Given the description of an element on the screen output the (x, y) to click on. 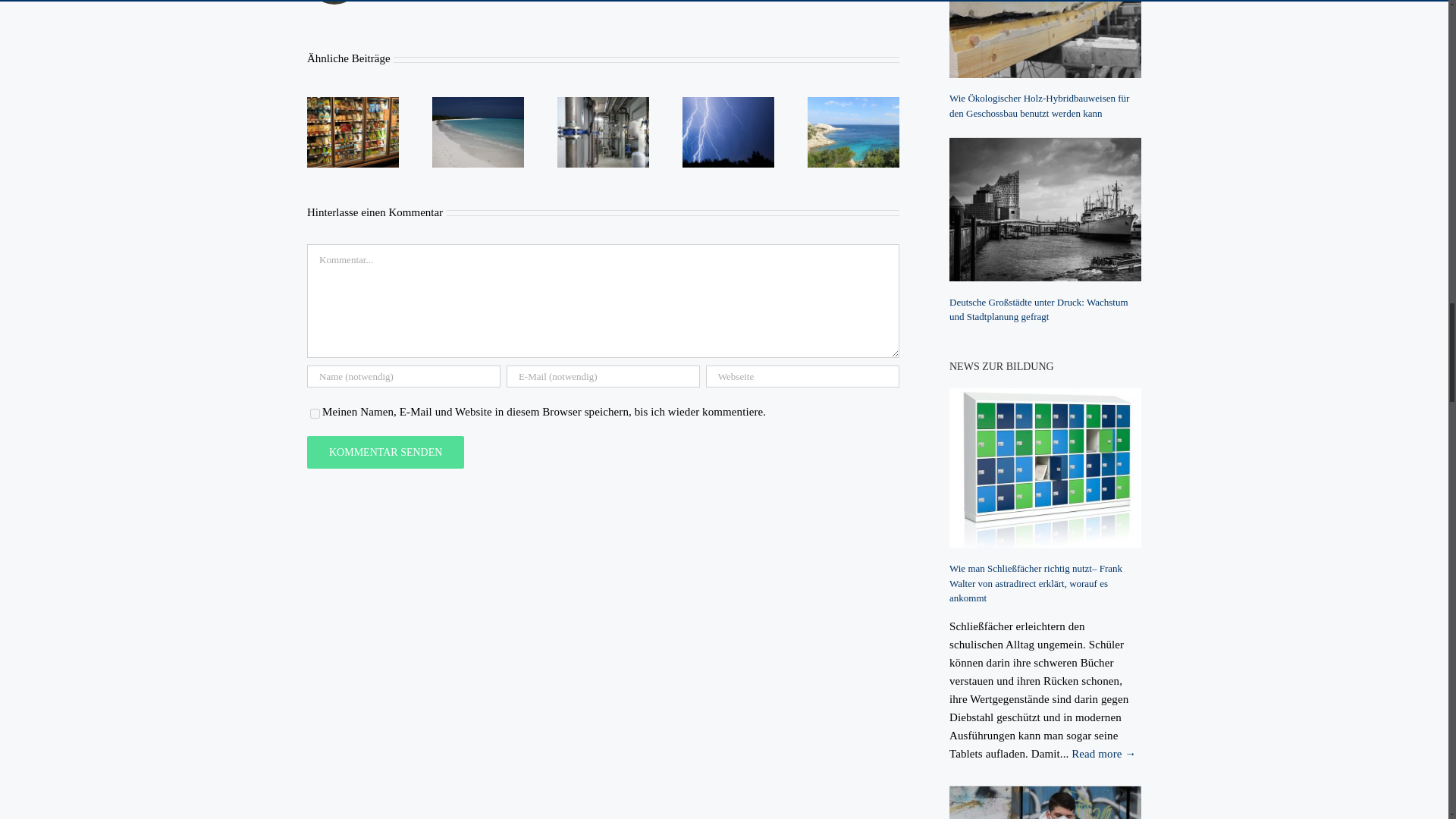
yes (315, 413)
Kommentar senden (385, 451)
